Given the description of an element on the screen output the (x, y) to click on. 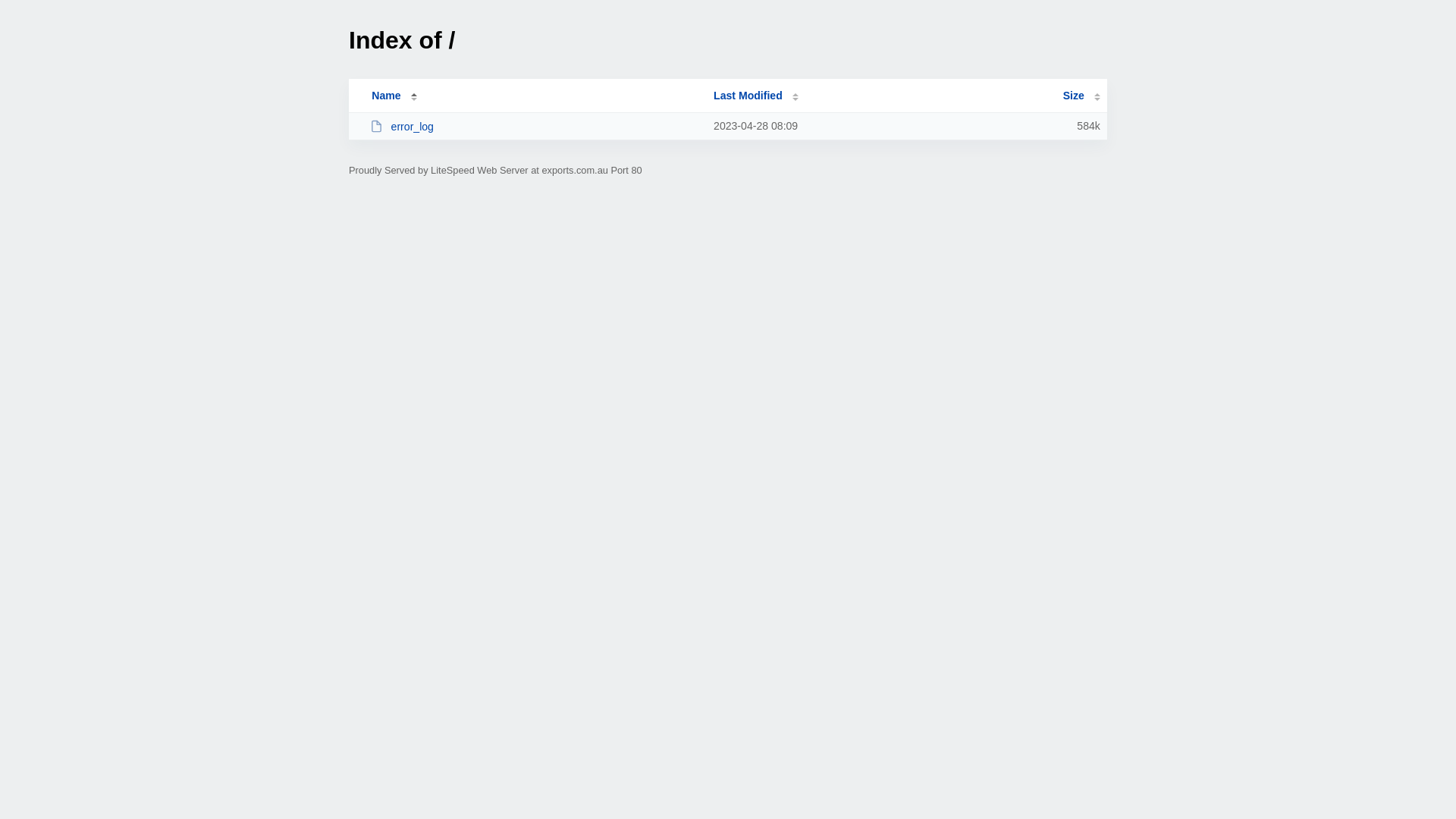
error_log Element type: text (534, 125)
Name Element type: text (385, 95)
Last Modified Element type: text (755, 95)
Size Element type: text (1081, 95)
